Given the description of an element on the screen output the (x, y) to click on. 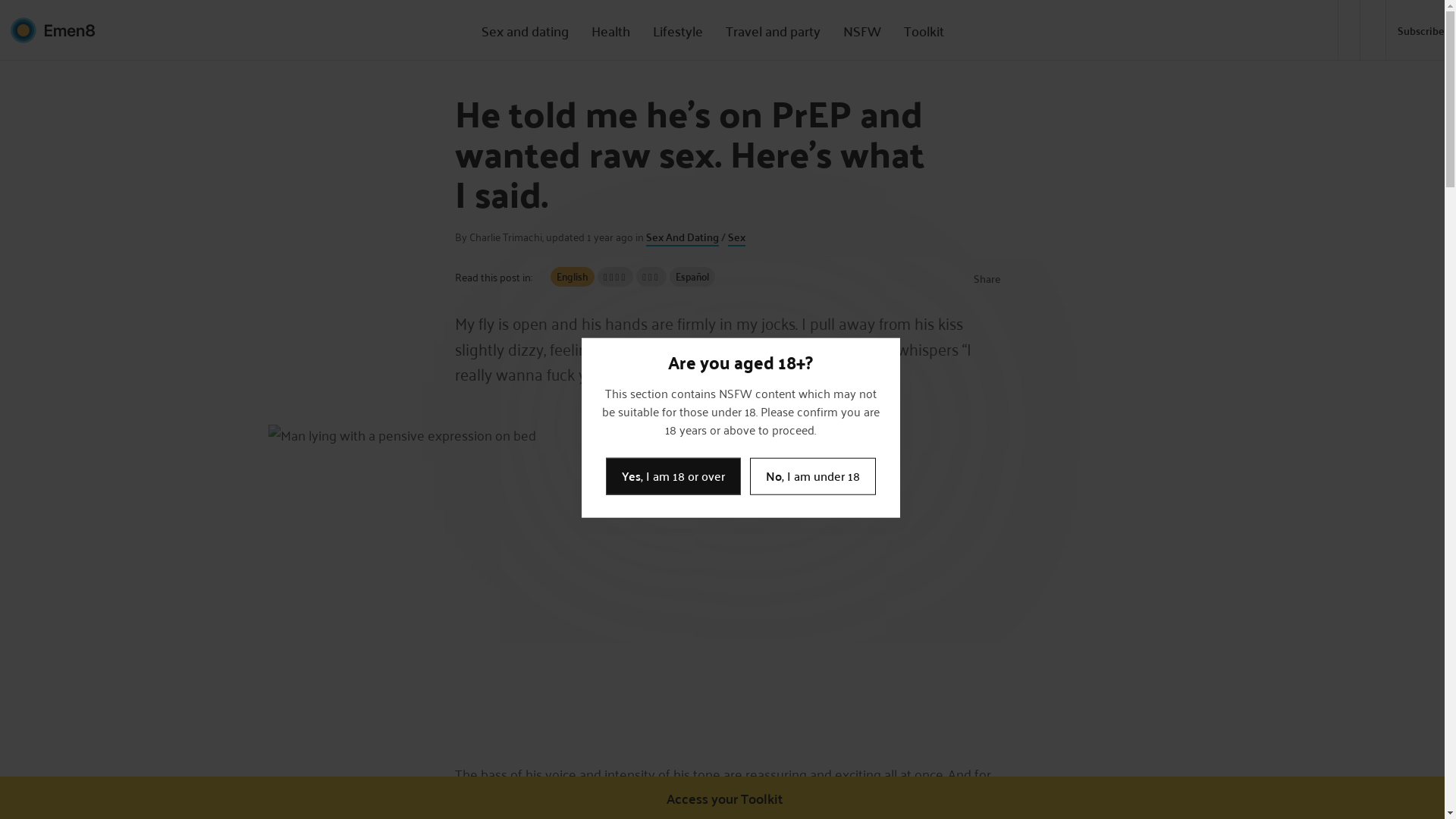
Sex Element type: text (736, 236)
Health Element type: text (610, 30)
Choose Language Element type: text (1372, 30)
Toolkit Element type: text (923, 30)
No, I am under 18 Element type: text (812, 475)
English Element type: text (572, 276)
Travel and party Element type: text (772, 30)
Lifestyle Element type: text (677, 30)
Share Element type: text (982, 278)
Sex And Dating Element type: text (682, 236)
Search Element type: text (1348, 30)
NSFW Element type: text (861, 30)
Sex and dating Element type: text (525, 30)
Yes, I am 18 or over Element type: text (672, 475)
